Given the description of an element on the screen output the (x, y) to click on. 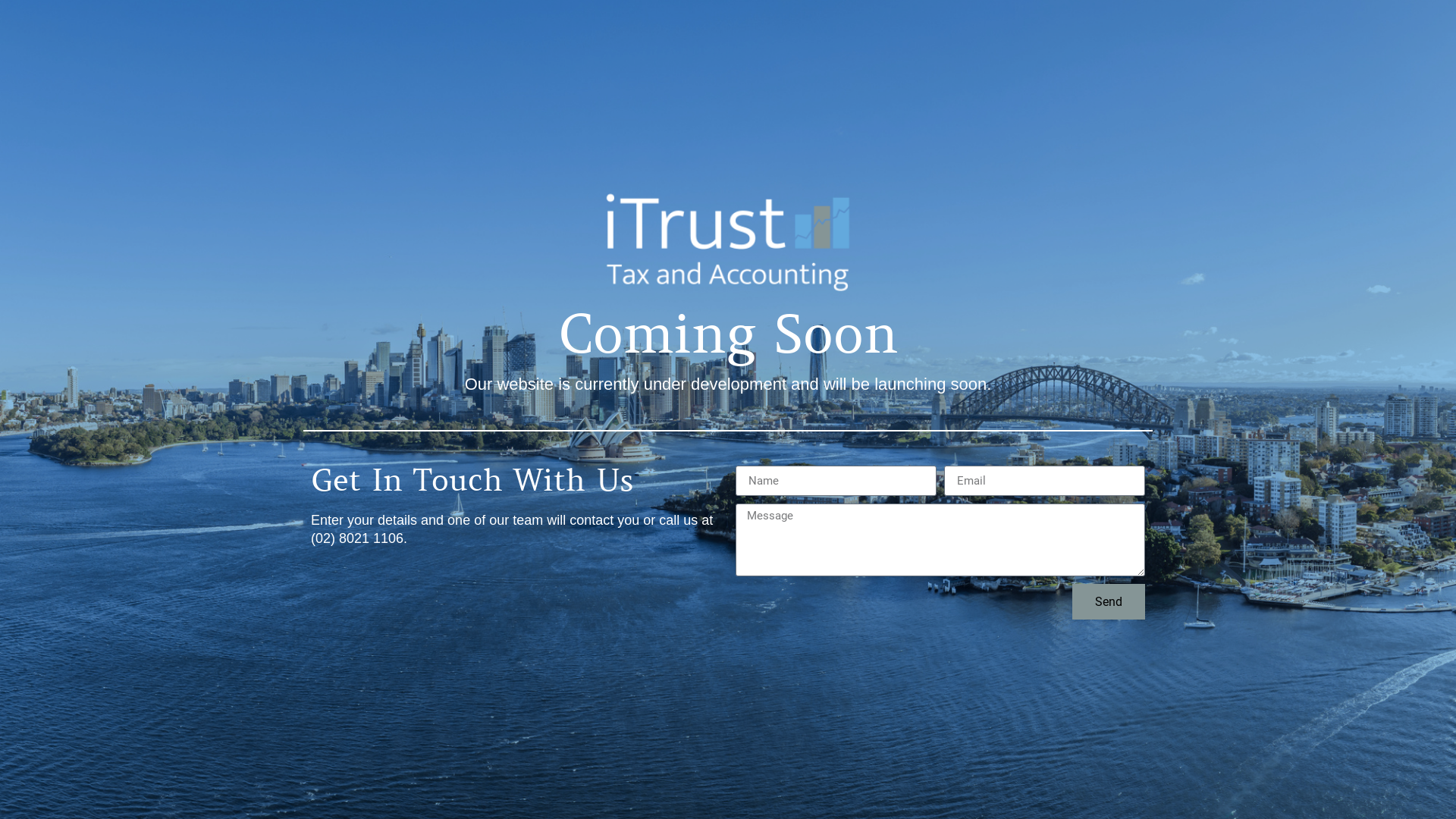
Send Element type: text (1108, 601)
(02) 8021 1106 Element type: text (356, 538)
